Given the description of an element on the screen output the (x, y) to click on. 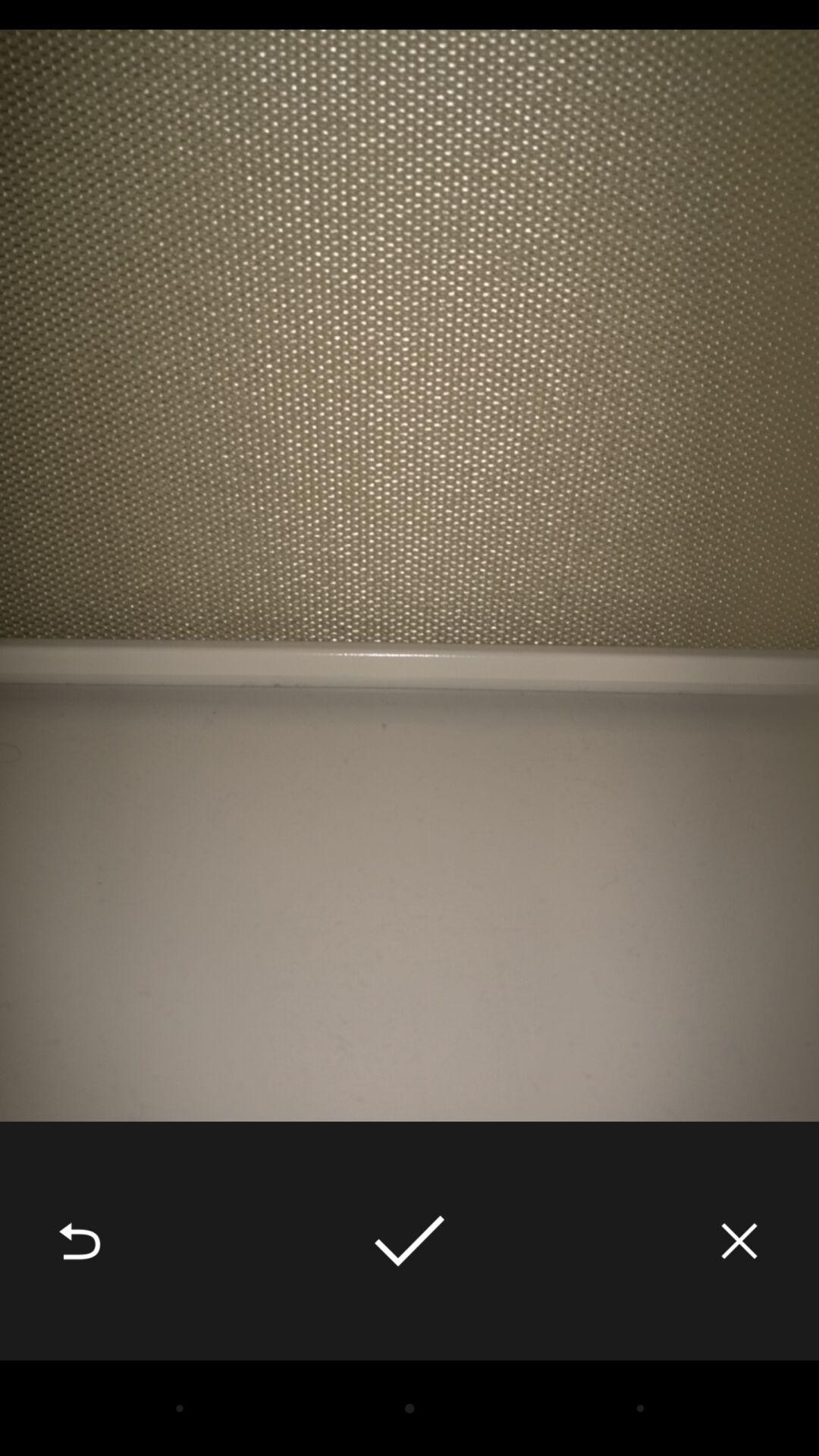
choose icon at the bottom left corner (79, 1240)
